Given the description of an element on the screen output the (x, y) to click on. 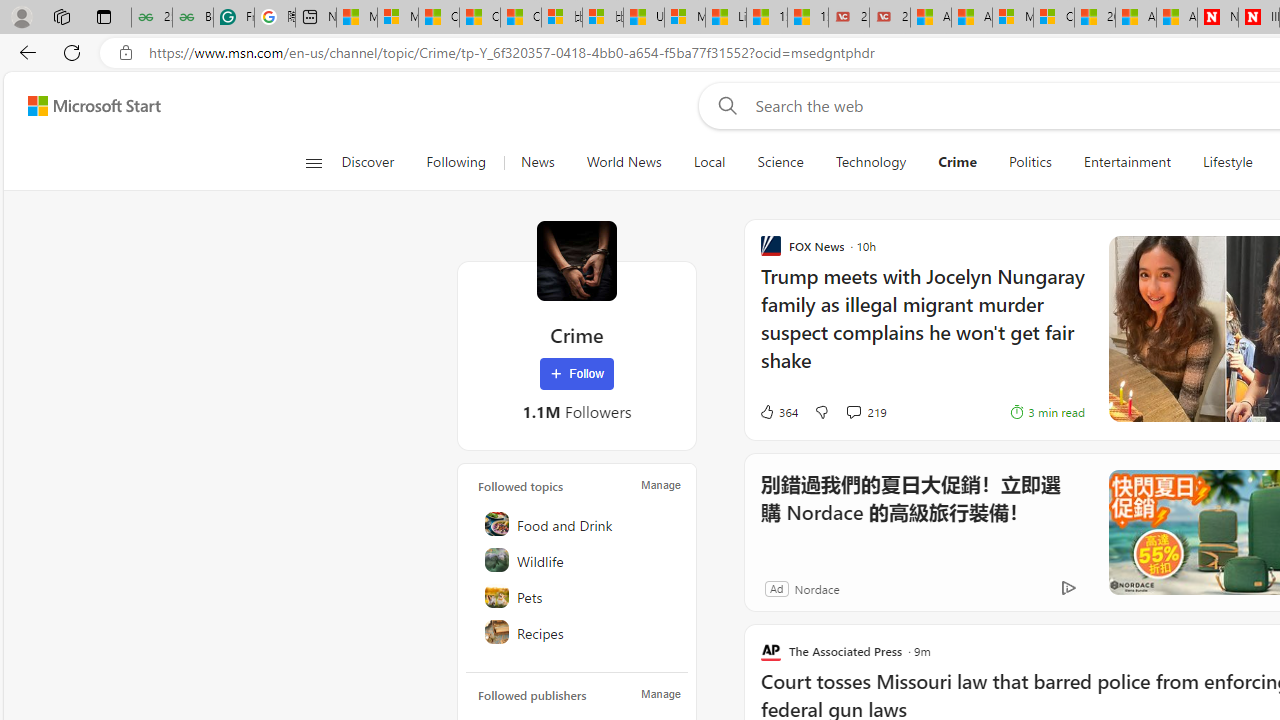
Lifestyle - MSN (726, 17)
Pets (578, 596)
